Given the description of an element on the screen output the (x, y) to click on. 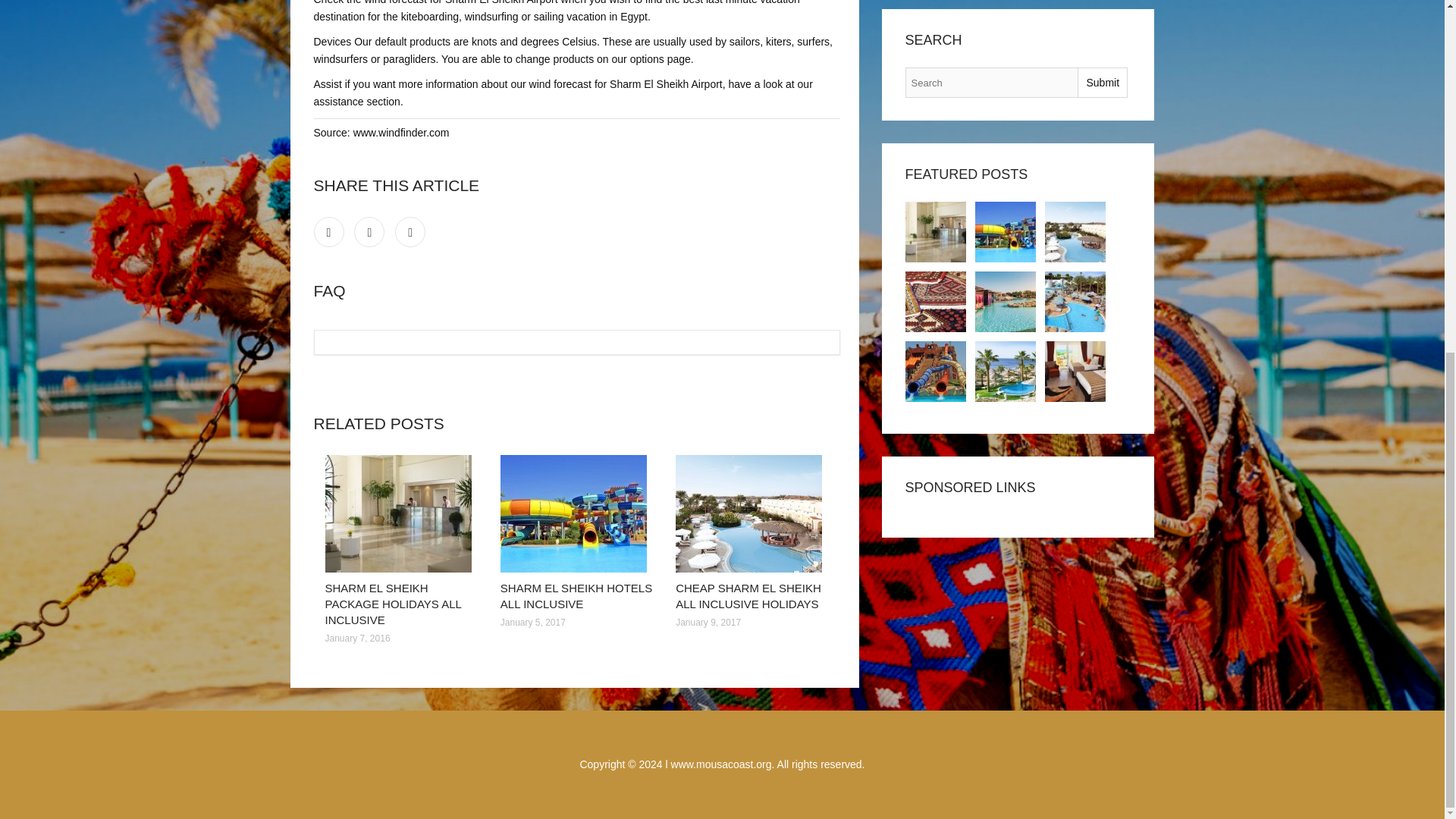
Sharm El Sheikh package Holidays All Inclusive (935, 231)
Sharm El Sheikh hotels All Inclusive (576, 513)
Cheap Sharm El Sheikh All Inclusive Holidays (751, 513)
All Inclusive deals to Sharm El Sheikh (935, 371)
Hotels, Sharm El Sheikh All Inclusive (1005, 371)
Ritz Carlton Sharm El Sheikh All Inclusive (1075, 371)
Sharm El Sheikh hotels All Inclusive (1005, 231)
Sharm El Sheikh package Holidays All Inclusive (400, 513)
SHARM EL SHEIKH HOTELS ALL INCLUSIVE (576, 595)
SHARM EL SHEIKH PACKAGE HOLIDAYS ALL INCLUSIVE (392, 603)
Cheap hotels Sharm El Sheikh All Inclusive (1075, 301)
Cheap Sharm El Sheikh All Inclusive Holidays (1075, 231)
All Inclusive Sharm El Sheikh 2015 (1005, 301)
Submit (1101, 82)
CHEAP SHARM EL SHEIKH ALL INCLUSIVE HOLIDAYS (748, 595)
